Given the description of an element on the screen output the (x, y) to click on. 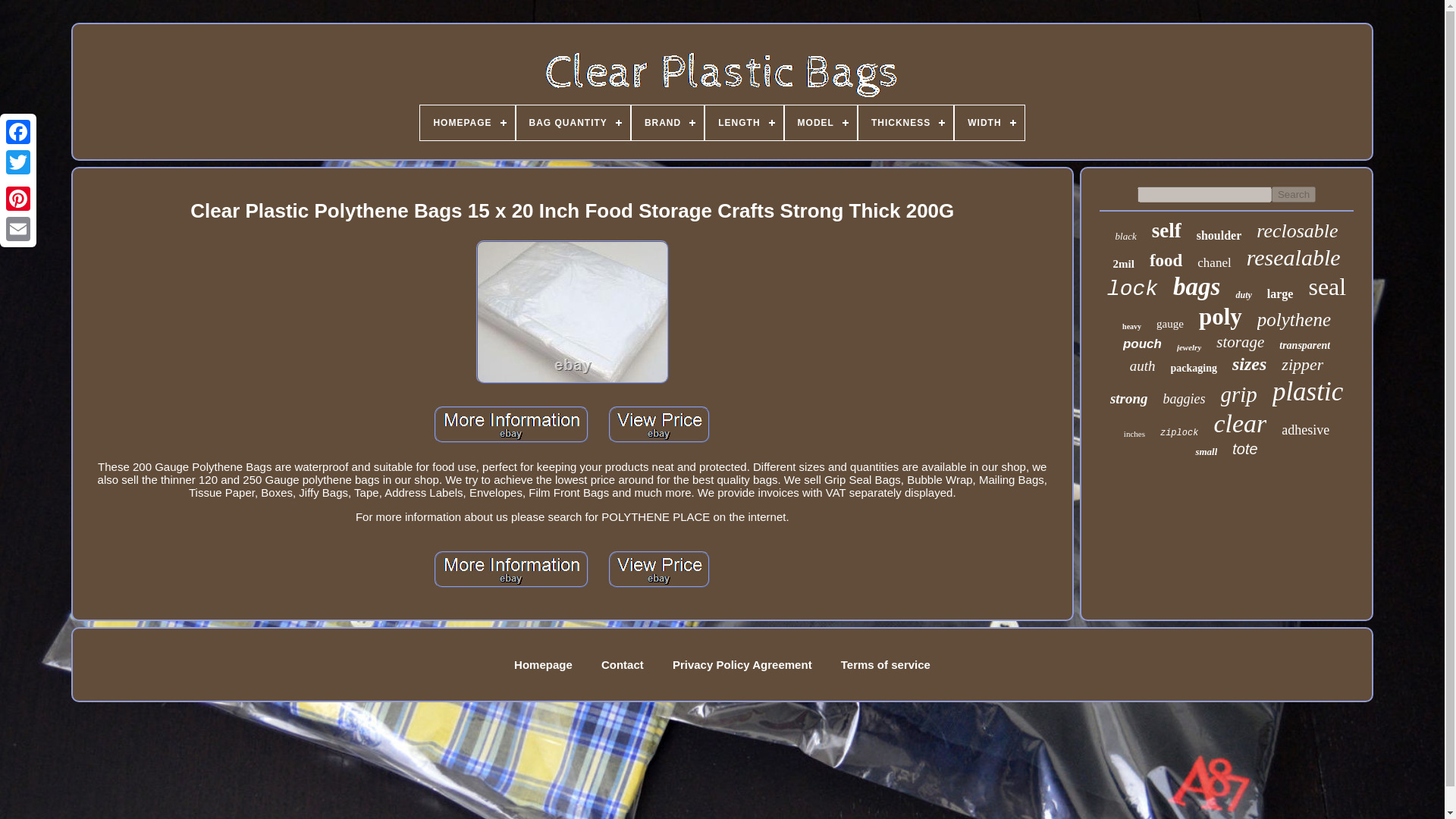
Search (1293, 194)
HOMEPAGE (466, 122)
Facebook (17, 132)
BRAND (667, 122)
BAG QUANTITY (573, 122)
LENGTH (743, 122)
